Given the description of an element on the screen output the (x, y) to click on. 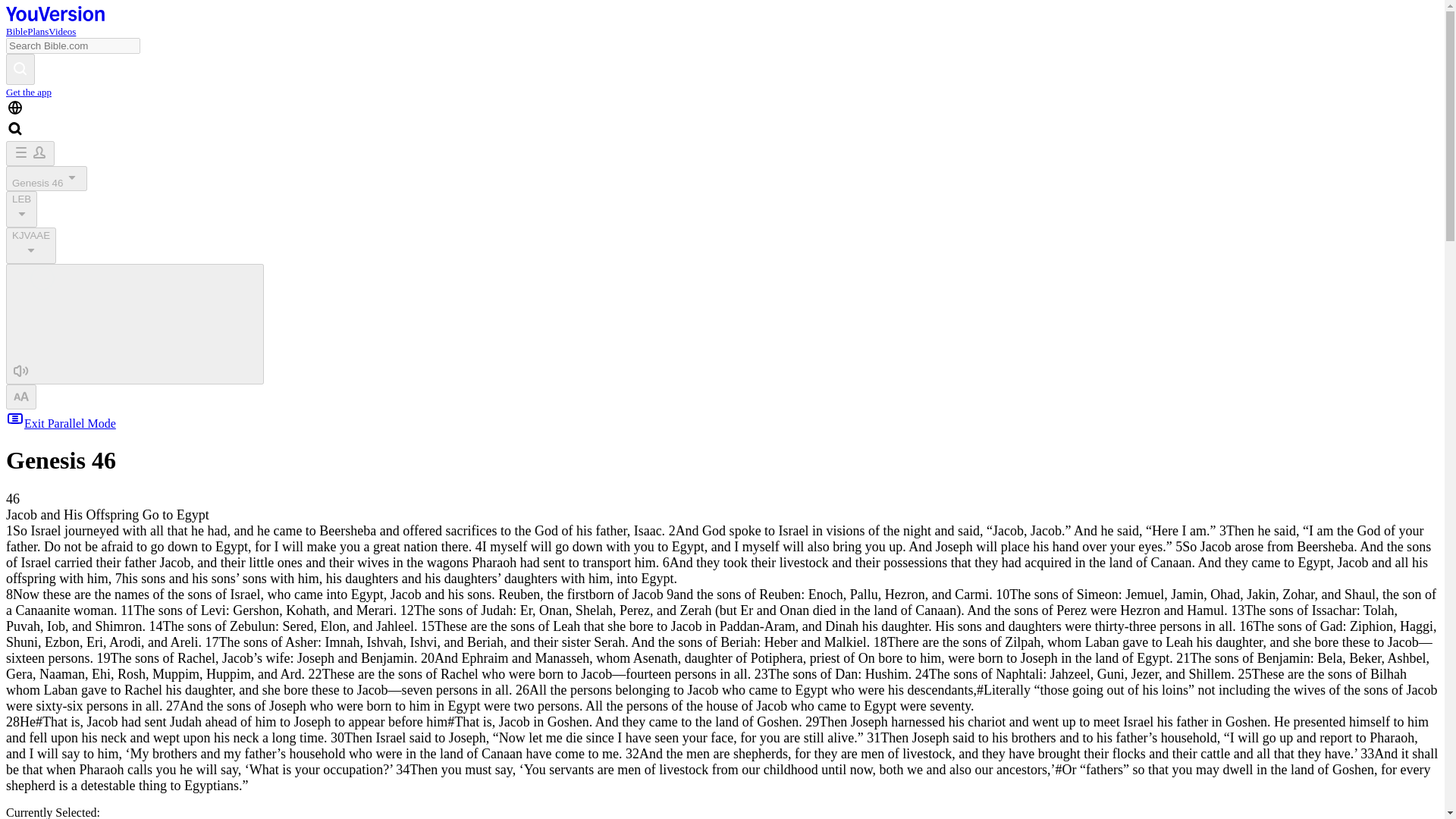
AUDIO (20, 370)
READER SETTINGS (20, 395)
Language Selector (14, 107)
YouVersion Logo (54, 13)
KJVAAE (30, 245)
Plans (37, 30)
Exit Parallel Mode (60, 422)
Videos (61, 30)
Genesis 46 (46, 178)
READER SETTINGS (20, 396)
Get the app (27, 91)
AUDIO (134, 323)
Bible (16, 30)
Search (19, 69)
Search (20, 67)
